Given the description of an element on the screen output the (x, y) to click on. 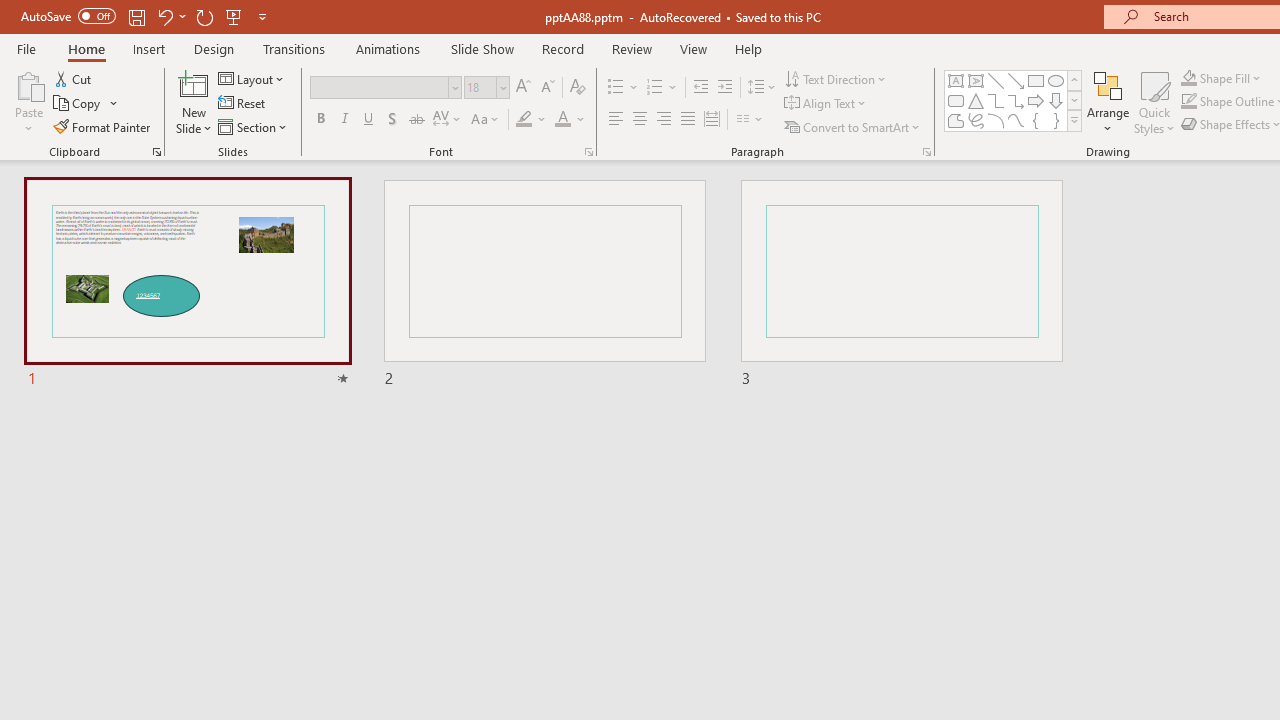
Format Painter (103, 126)
Office Clipboard... (156, 151)
Shadow (392, 119)
Center (639, 119)
Underline (369, 119)
Line Spacing (762, 87)
Font Color Red (562, 119)
Layout (252, 78)
Distributed (712, 119)
Freeform: Scribble (975, 120)
Align Right (663, 119)
Character Spacing (447, 119)
